Given the description of an element on the screen output the (x, y) to click on. 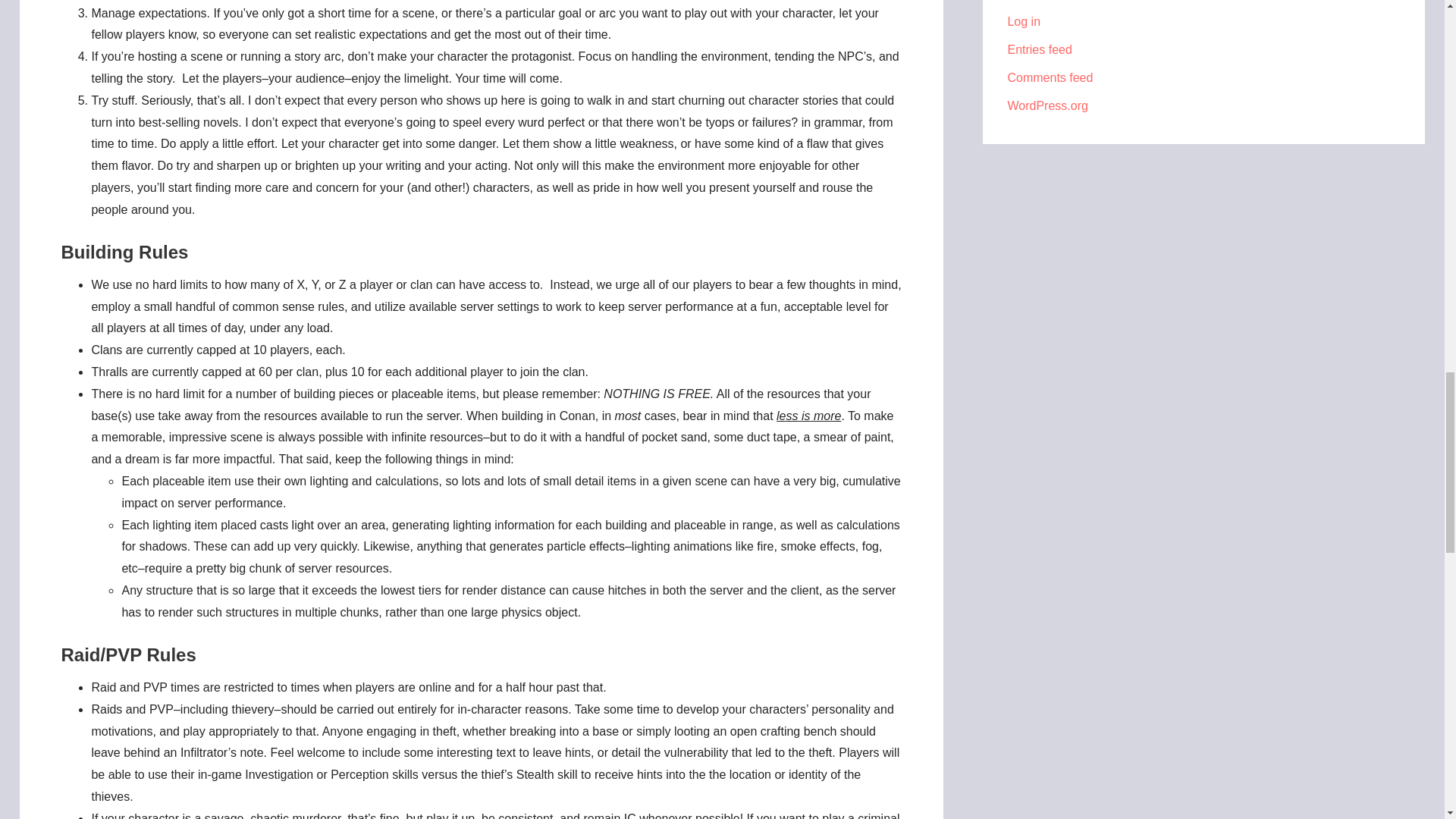
Log in (1024, 21)
Comments feed (1050, 77)
Entries feed (1039, 49)
WordPress.org (1047, 105)
